Given the description of an element on the screen output the (x, y) to click on. 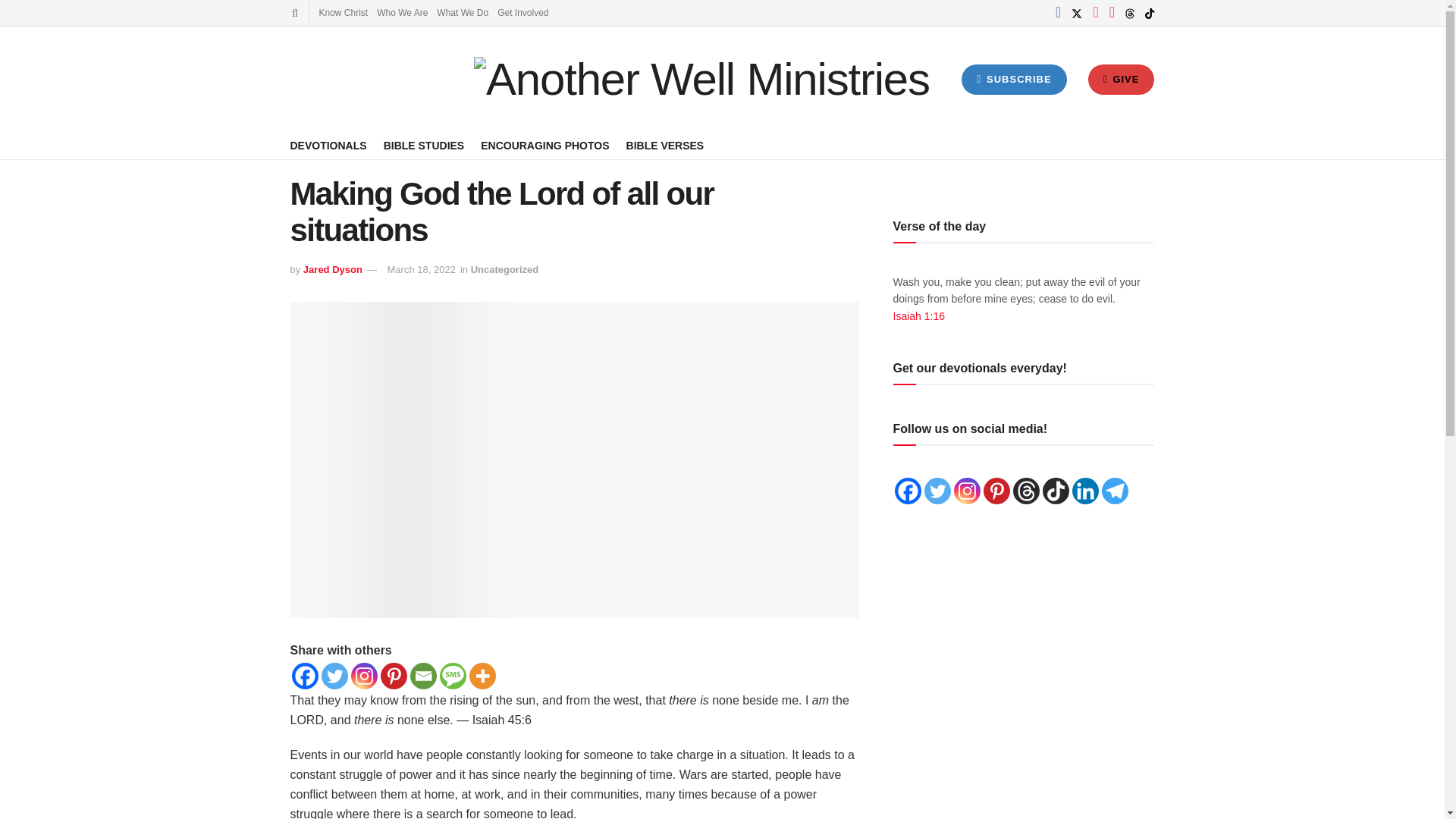
TikTok (1055, 490)
Pinterest (393, 675)
Facebook (908, 490)
SMS (452, 675)
Facebook (304, 675)
More (481, 675)
Instagram (363, 675)
Threads (1026, 490)
Get Involved (522, 12)
Twitter (334, 675)
GIVE (1120, 79)
BIBLE VERSES (665, 145)
BIBLE STUDIES (424, 145)
Email (422, 675)
ENCOURAGING PHOTOS (544, 145)
